Given the description of an element on the screen output the (x, y) to click on. 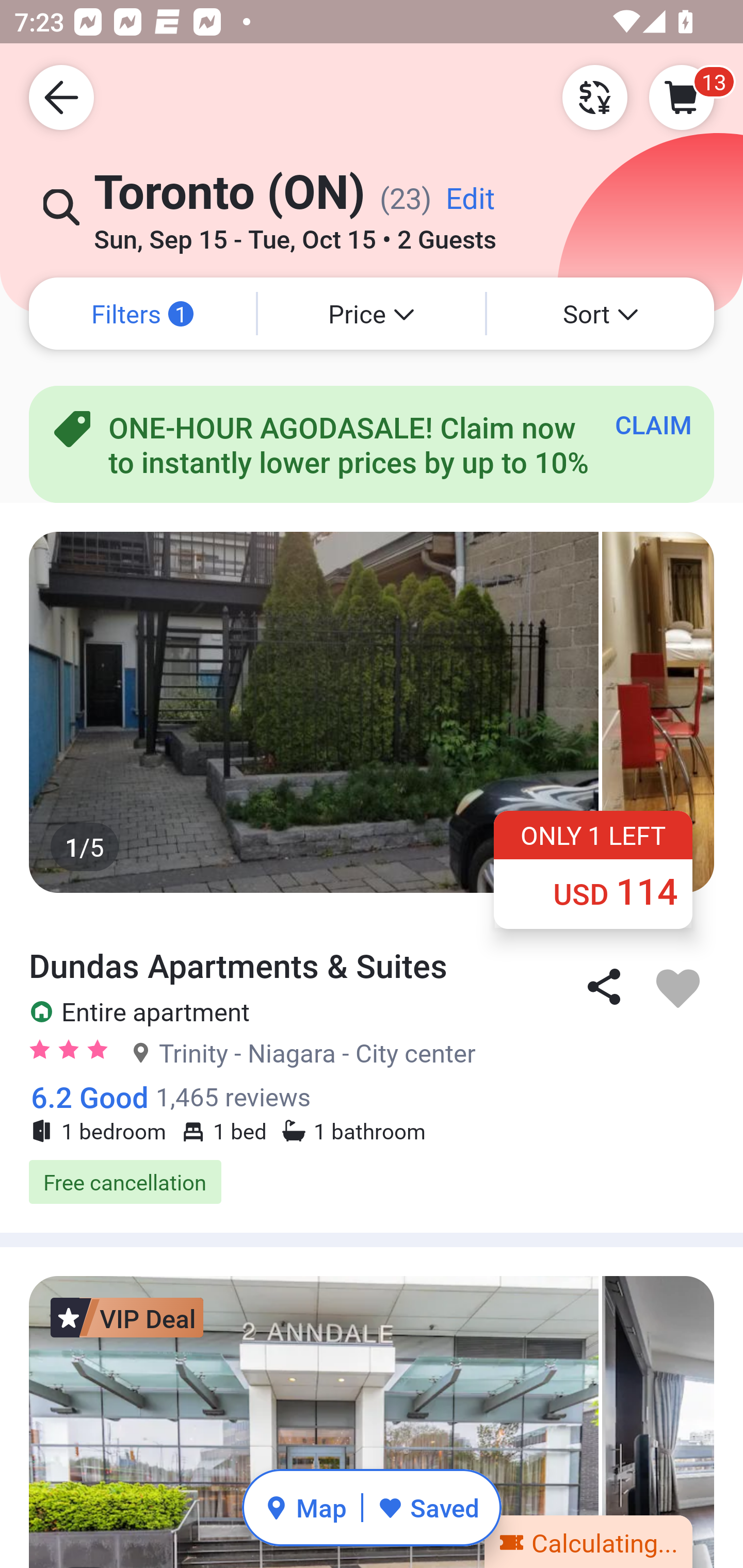
Filters 1 (141, 313)
Price (371, 313)
Sort (600, 313)
CLAIM (653, 424)
1/5 (371, 711)
ONLY 1 LEFT ‪USD 114 (593, 869)
Free cancellation (371, 1182)
VIP Deal (126, 1317)
Map (305, 1507)
Saved (428, 1507)
Calculating... (588, 1541)
